Given the description of an element on the screen output the (x, y) to click on. 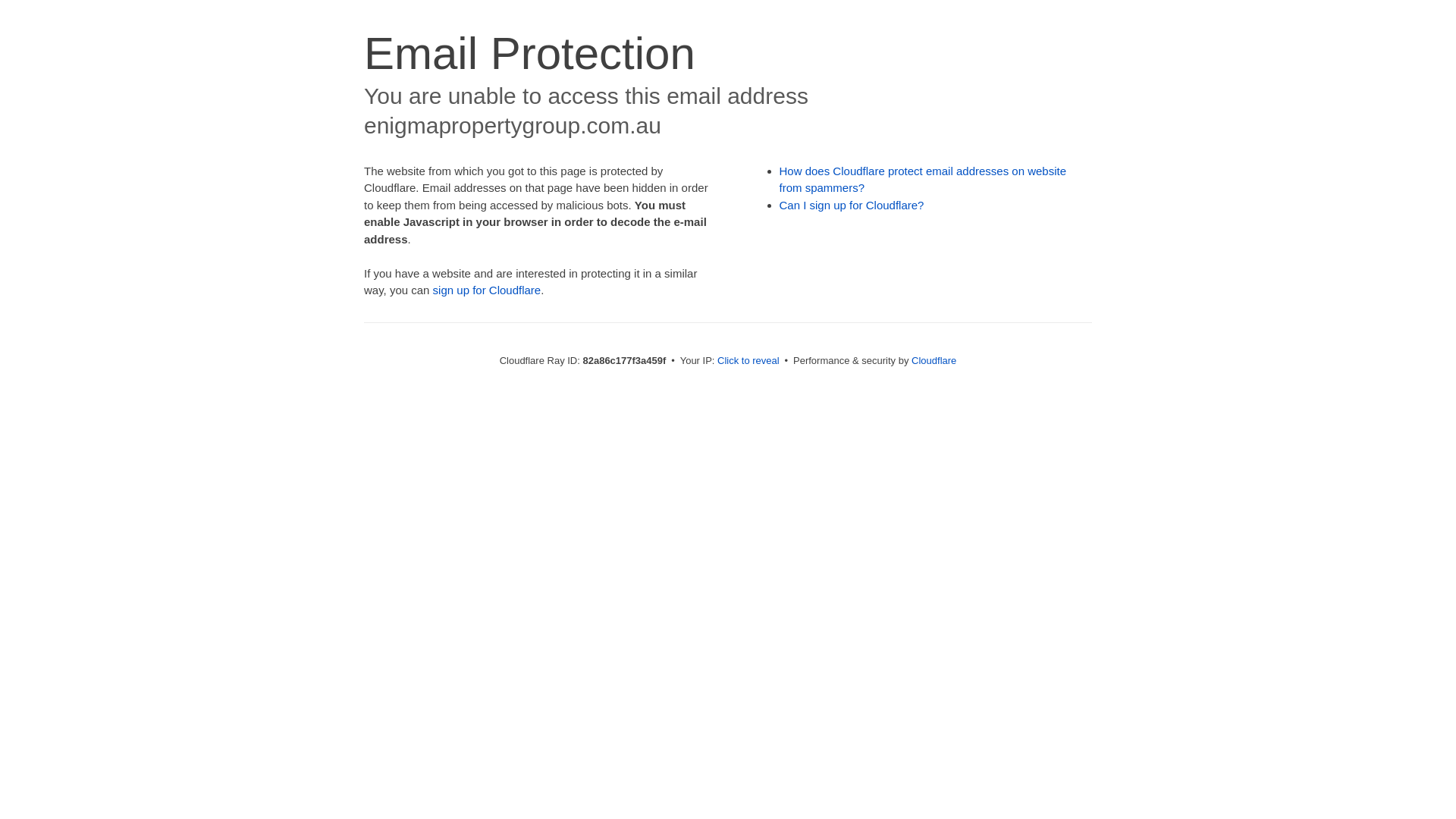
Can I sign up for Cloudflare? Element type: text (851, 204)
Click to reveal Element type: text (748, 360)
sign up for Cloudflare Element type: text (487, 289)
Cloudflare Element type: text (933, 360)
